Given the description of an element on the screen output the (x, y) to click on. 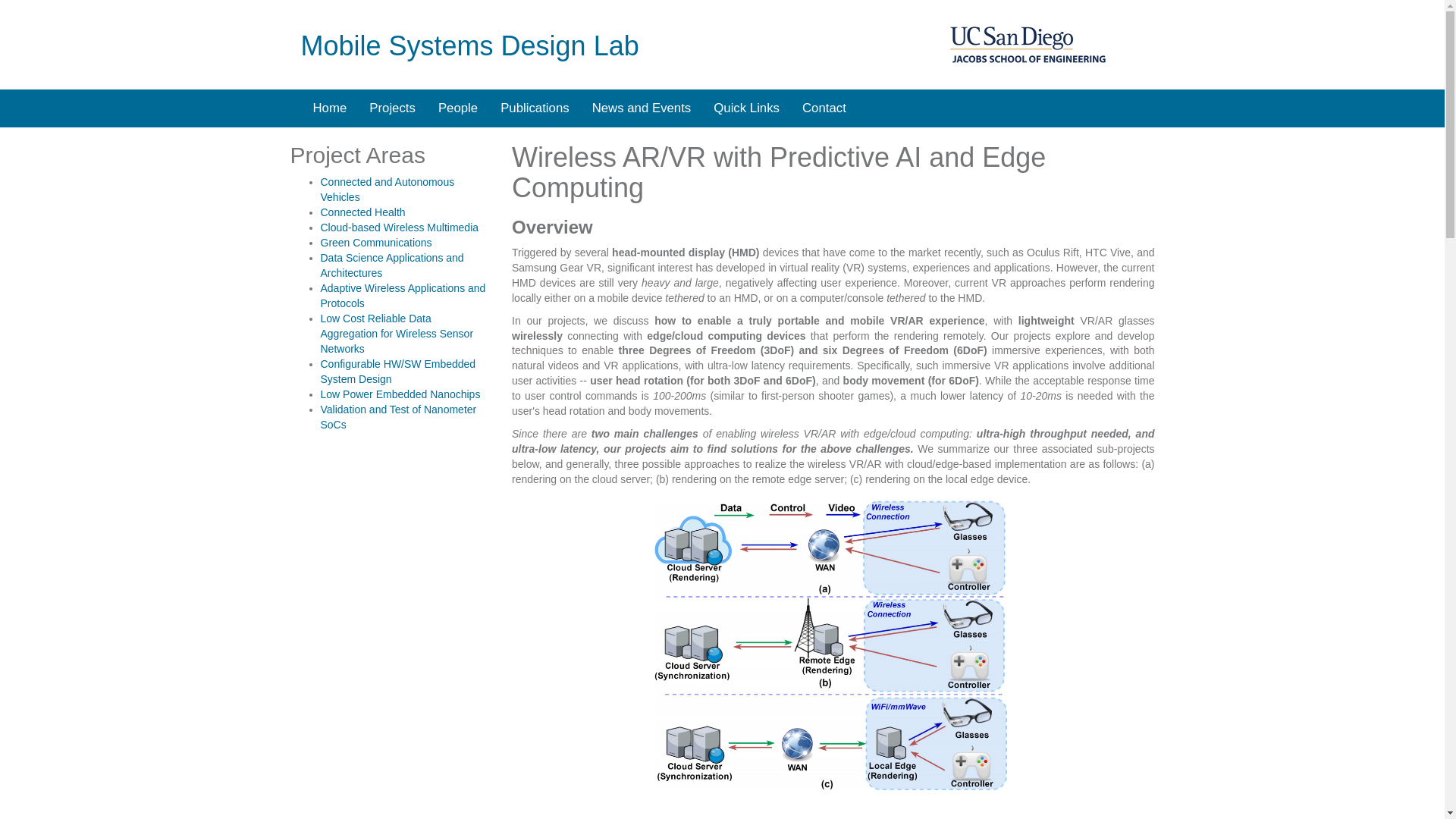
MESDAT Events (641, 108)
Green Communications (375, 242)
Mobile Systems Design Lab (469, 45)
Projects (392, 108)
Contact (823, 108)
Low Power Embedded Nanochips (400, 394)
Publications (534, 108)
Connected Health (362, 212)
Data Science Applications and Architectures (391, 265)
People (457, 108)
